Given the description of an element on the screen output the (x, y) to click on. 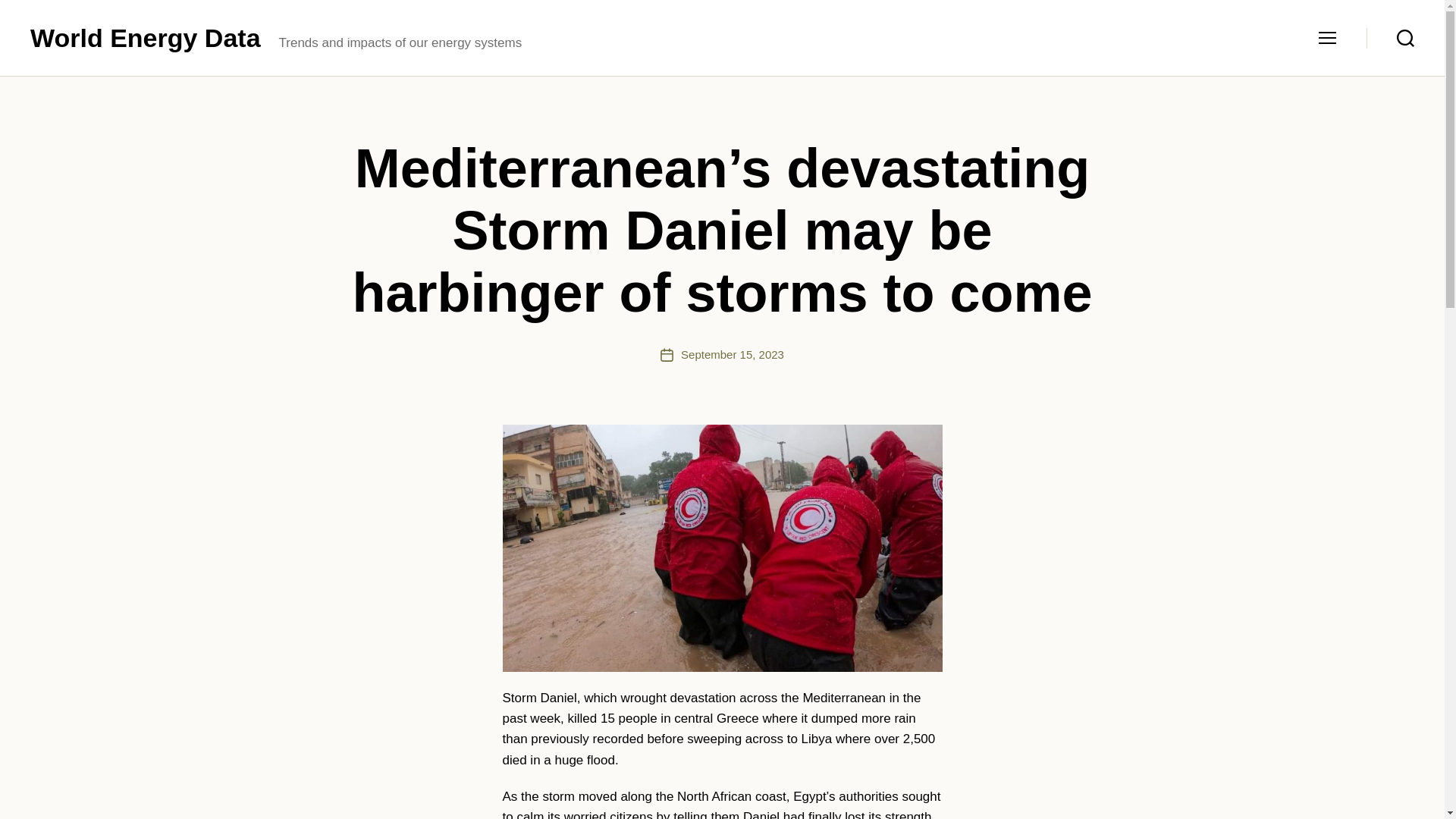
Menu (1327, 37)
World Energy Data (145, 37)
